Given the description of an element on the screen output the (x, y) to click on. 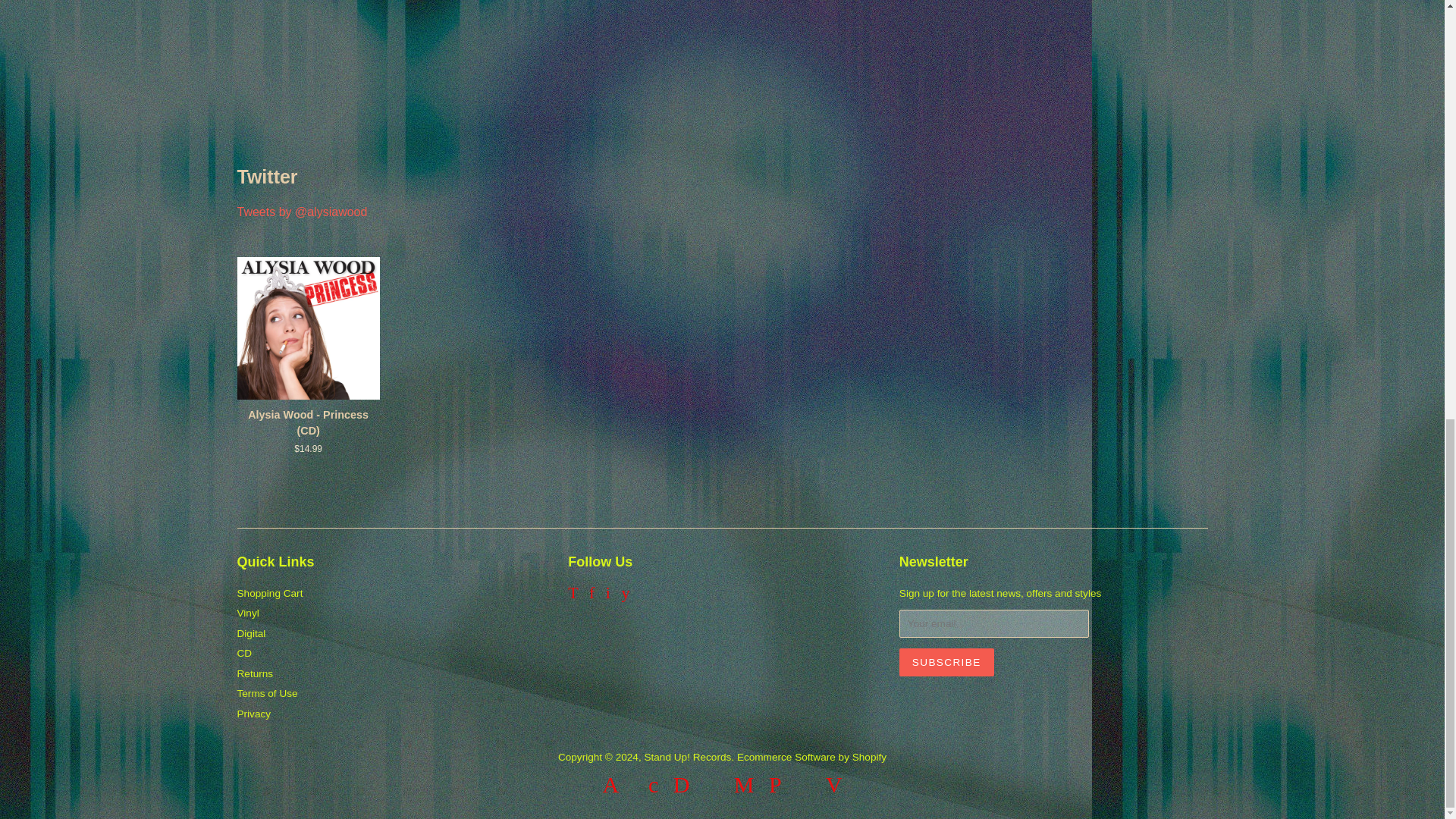
Stand Up! Records on YouTube (624, 594)
Stand Up! Records on Facebook (591, 594)
Subscribe (946, 662)
Stand Up! Records on Instagram (607, 594)
Stand Up! Records on Twitter (572, 594)
